Given the description of an element on the screen output the (x, y) to click on. 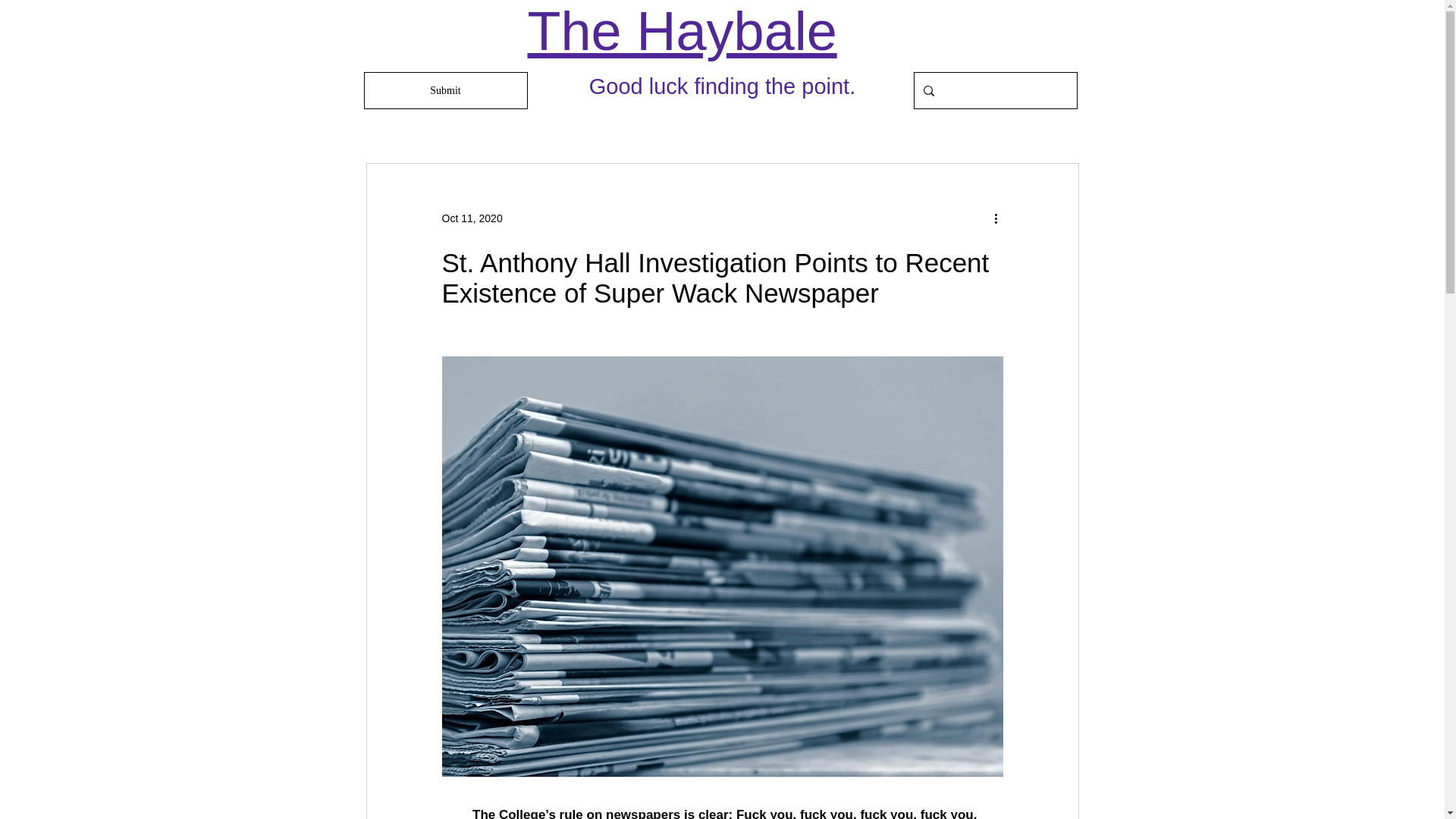
Oct 11, 2020 (471, 218)
The Haybale (682, 30)
Submit (445, 90)
